Given the description of an element on the screen output the (x, y) to click on. 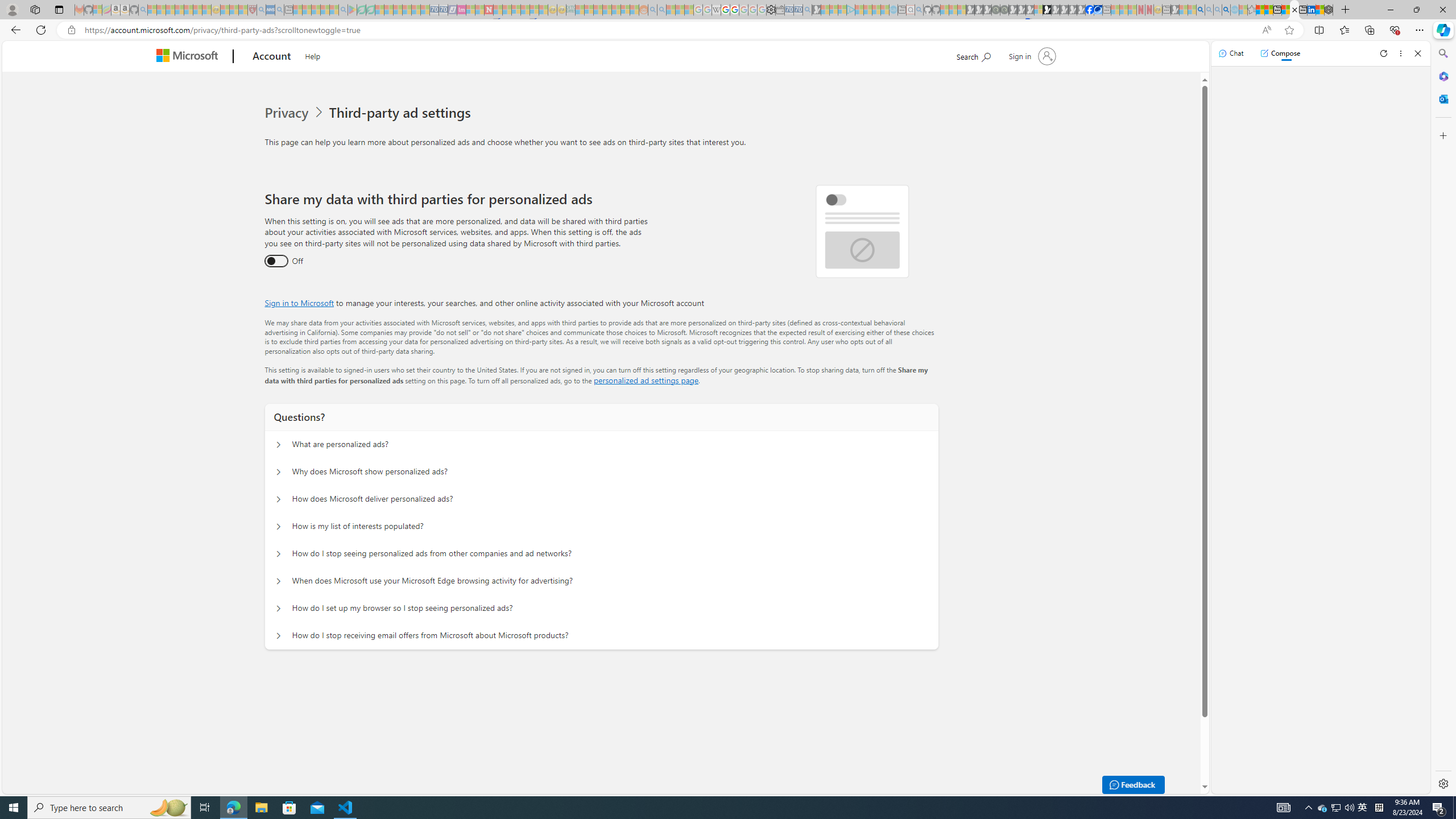
Sign in to your account (1031, 55)
personalized ad settings page (645, 379)
